Given the description of an element on the screen output the (x, y) to click on. 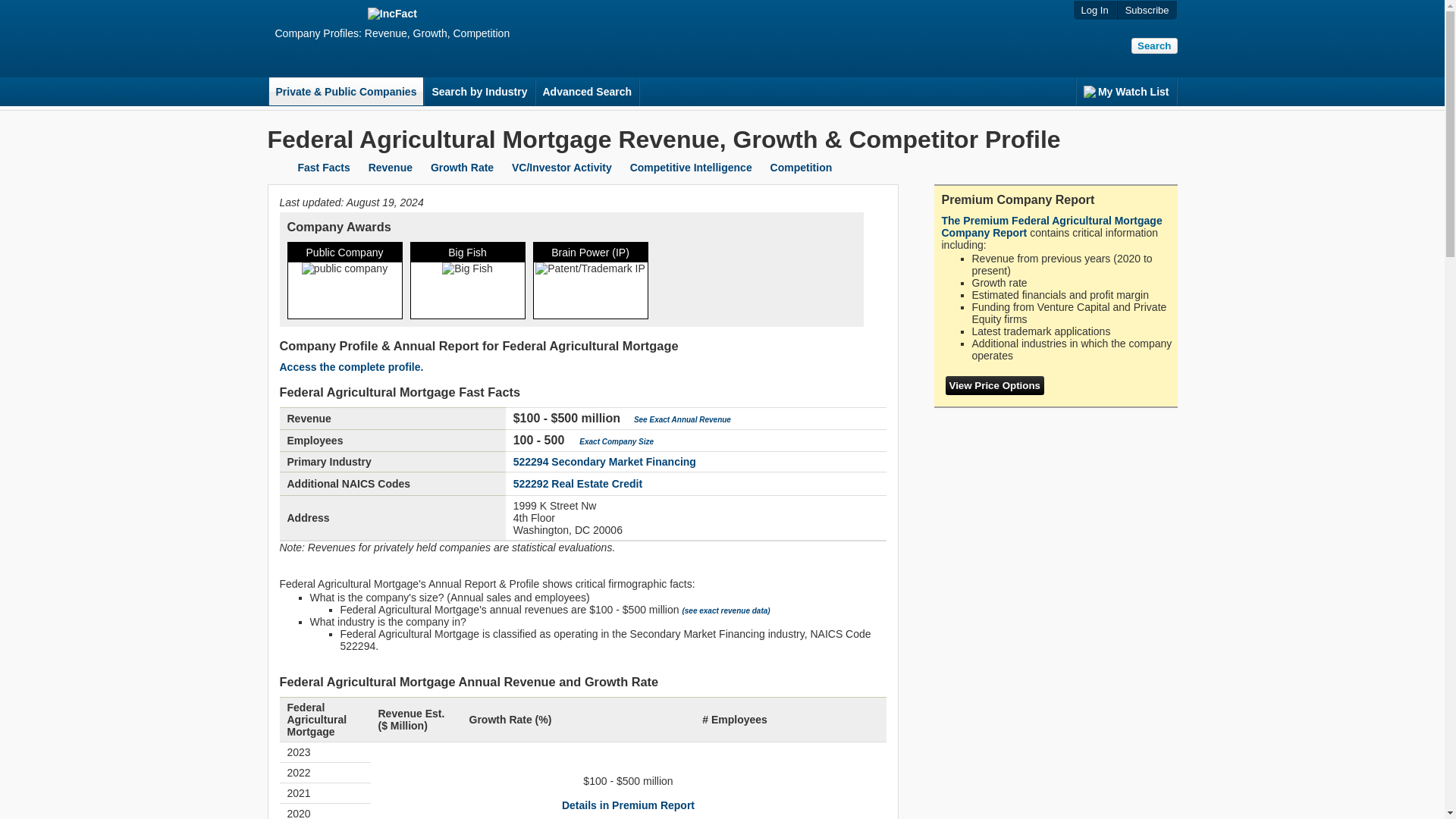
522292 Real Estate Credit (577, 483)
View Price Options (993, 384)
See Exact Annual Revenue (681, 419)
Revenue (390, 167)
Fast Facts (323, 167)
Details in Premium Report (628, 805)
Subscribe (1147, 9)
Search by Industry (478, 90)
Search (1153, 45)
My Watch List (1125, 90)
